Given the description of an element on the screen output the (x, y) to click on. 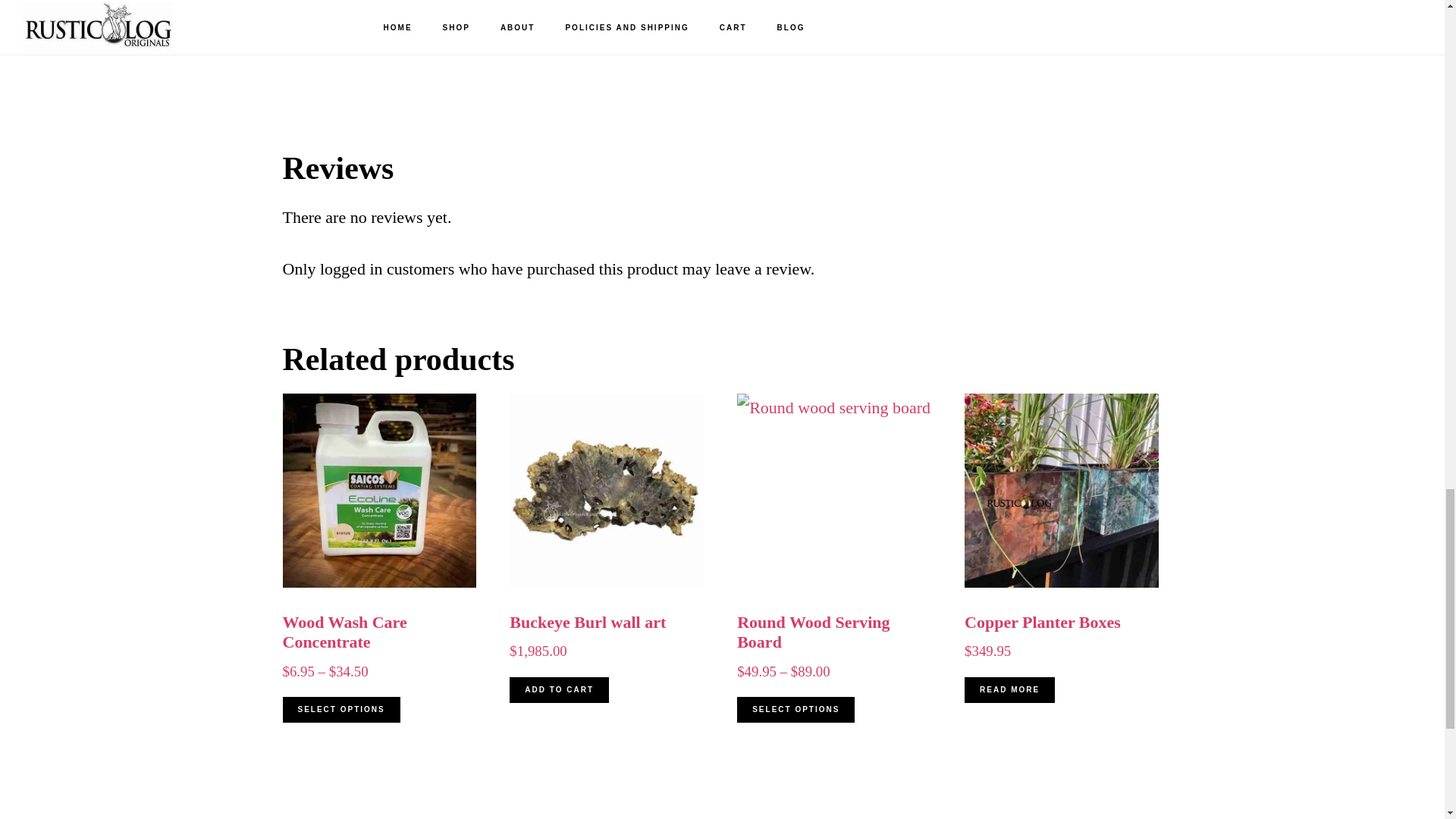
SELECT OPTIONS (340, 709)
READ MORE (1008, 689)
ADD TO CART (558, 689)
SELECT OPTIONS (795, 709)
